Given the description of an element on the screen output the (x, y) to click on. 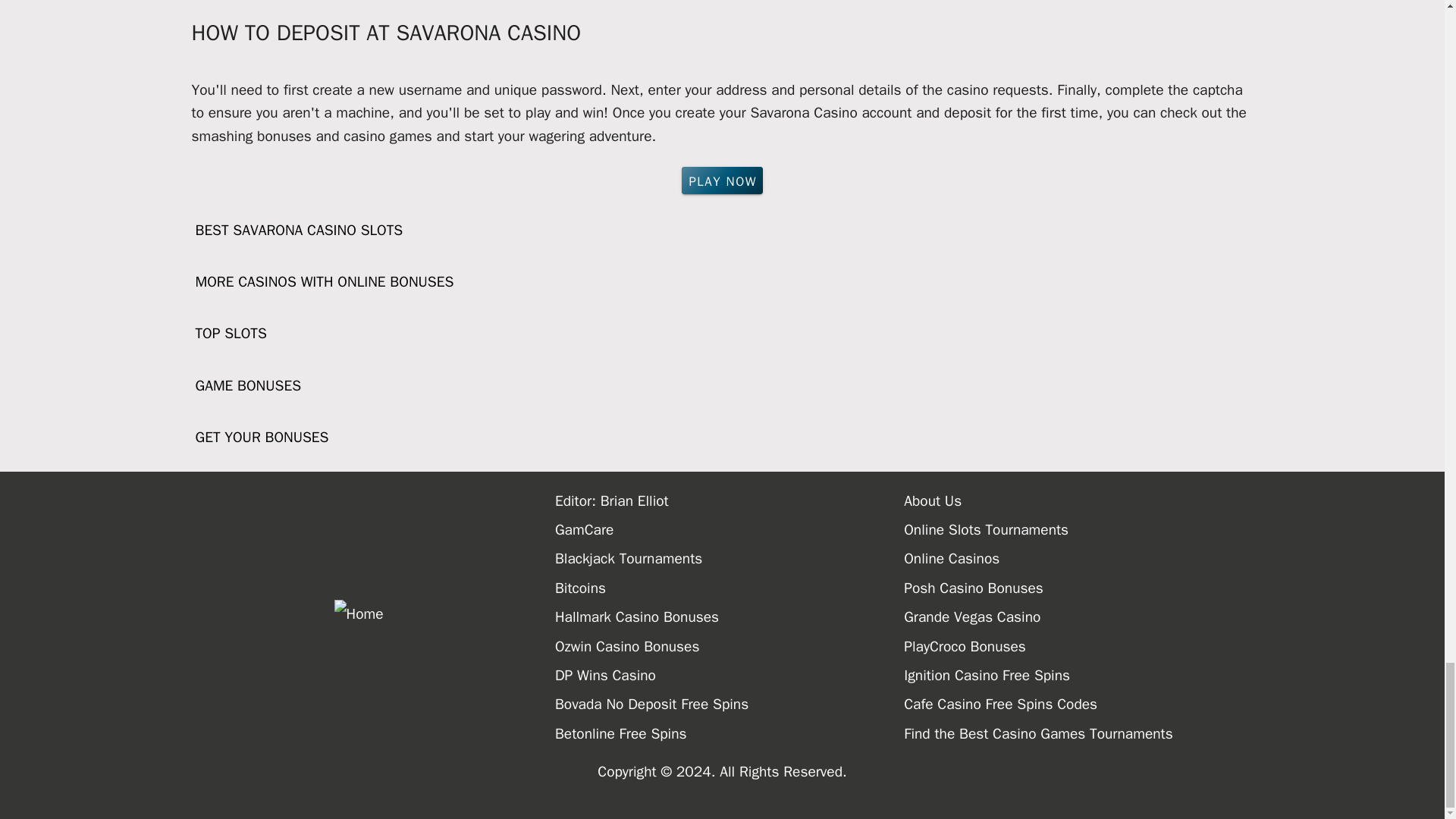
Bovada No Deposit Free Spins (729, 704)
PlayCroco Bonuses (1078, 646)
Cafe Casino Free Spins Codes (1078, 704)
Ignition Casino Free Spins (1078, 675)
Grande Vegas Casino (1078, 616)
Posh Casino Bonuses (1078, 588)
Online Slots Tournaments (1078, 529)
Find the Best Casino Games Tournaments (1078, 733)
Hallmark Casino Bonuses (729, 616)
GamCare (729, 529)
Ozwin Casino Bonuses (729, 646)
About Us (1078, 500)
Bitcoins (729, 588)
PLAY NOW (721, 180)
Betonline Free Spins (729, 733)
